Given the description of an element on the screen output the (x, y) to click on. 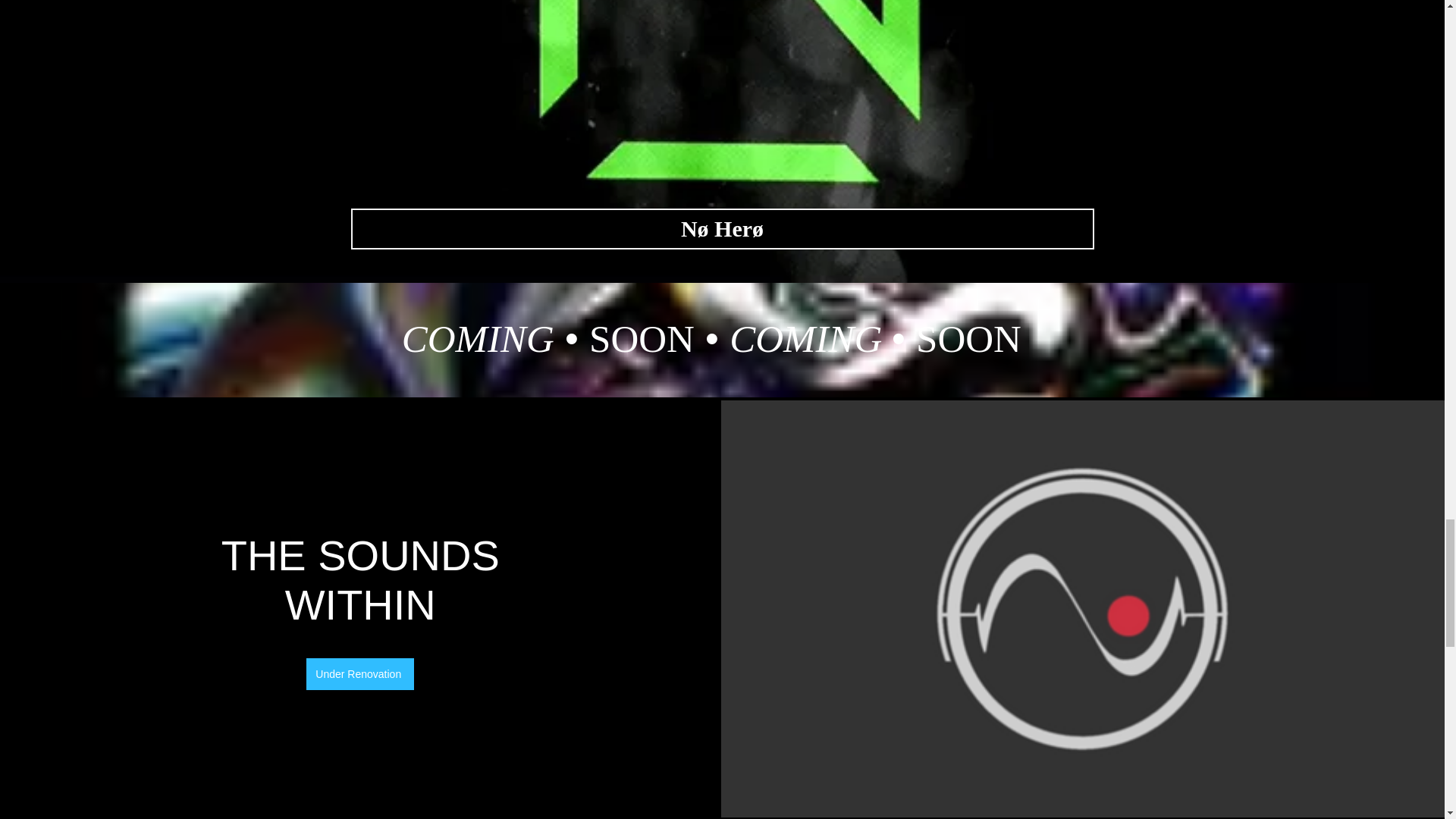
Under Renovation (359, 674)
